Given the description of an element on the screen output the (x, y) to click on. 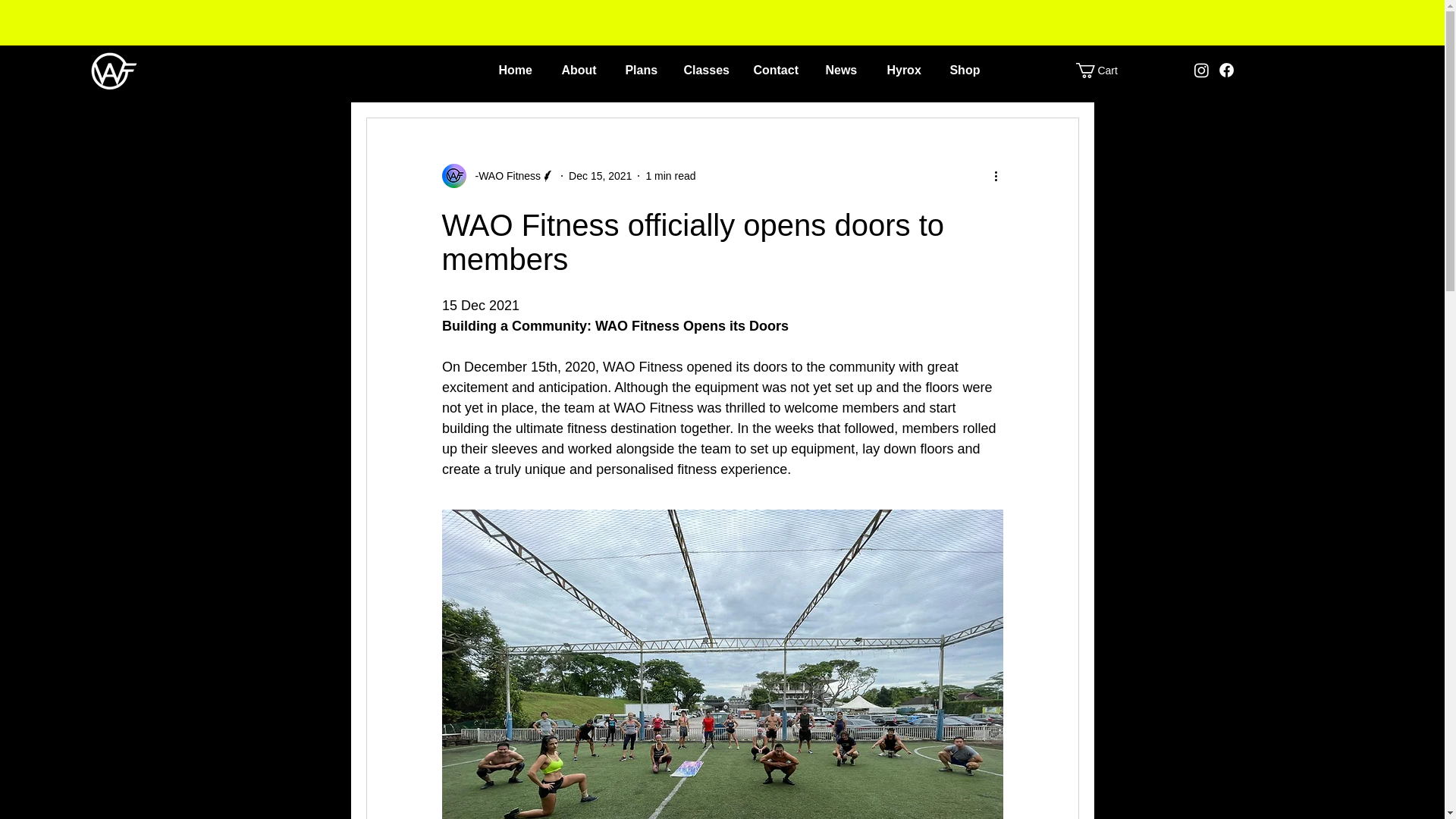
Classes (706, 70)
Dec 15, 2021 (600, 175)
Cart (1104, 70)
Contact (776, 70)
Shop (966, 70)
About (581, 70)
Hyrox (906, 70)
Plans (641, 70)
Home (517, 70)
1 min read (670, 175)
